Given the description of an element on the screen output the (x, y) to click on. 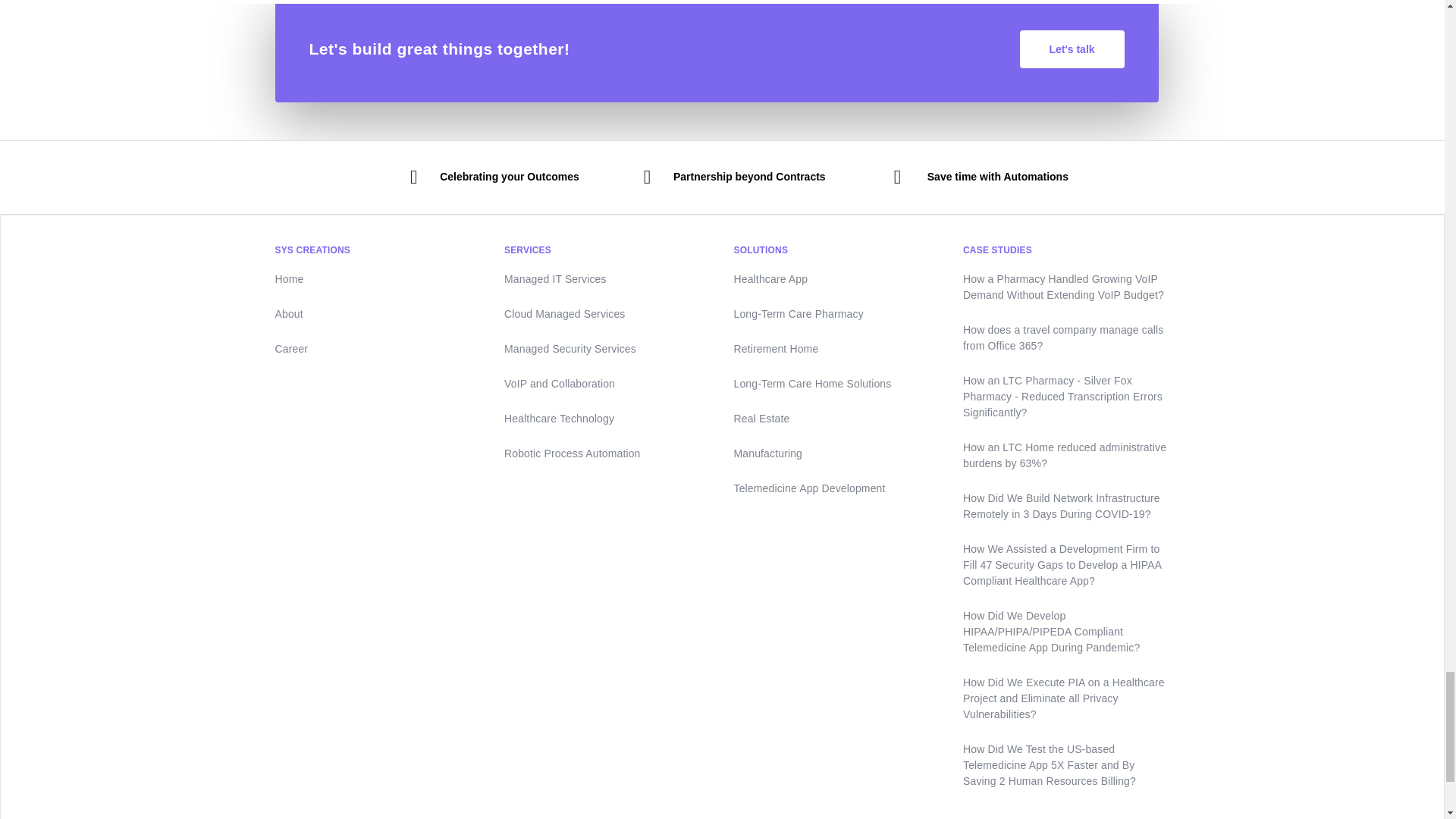
Managed Security Services (607, 348)
Career (378, 348)
 About (378, 314)
Long-Term Care Pharmacy (836, 314)
Long-Term Care Home Solutions (836, 383)
VoIP and Collaboration (607, 383)
Retirement Home (836, 348)
Robotic Process Automation (607, 453)
Home (378, 278)
Healthcare Technology (607, 418)
Managed IT Services (607, 278)
Cloud Managed Services (607, 314)
Healthcare App (836, 278)
